Given the description of an element on the screen output the (x, y) to click on. 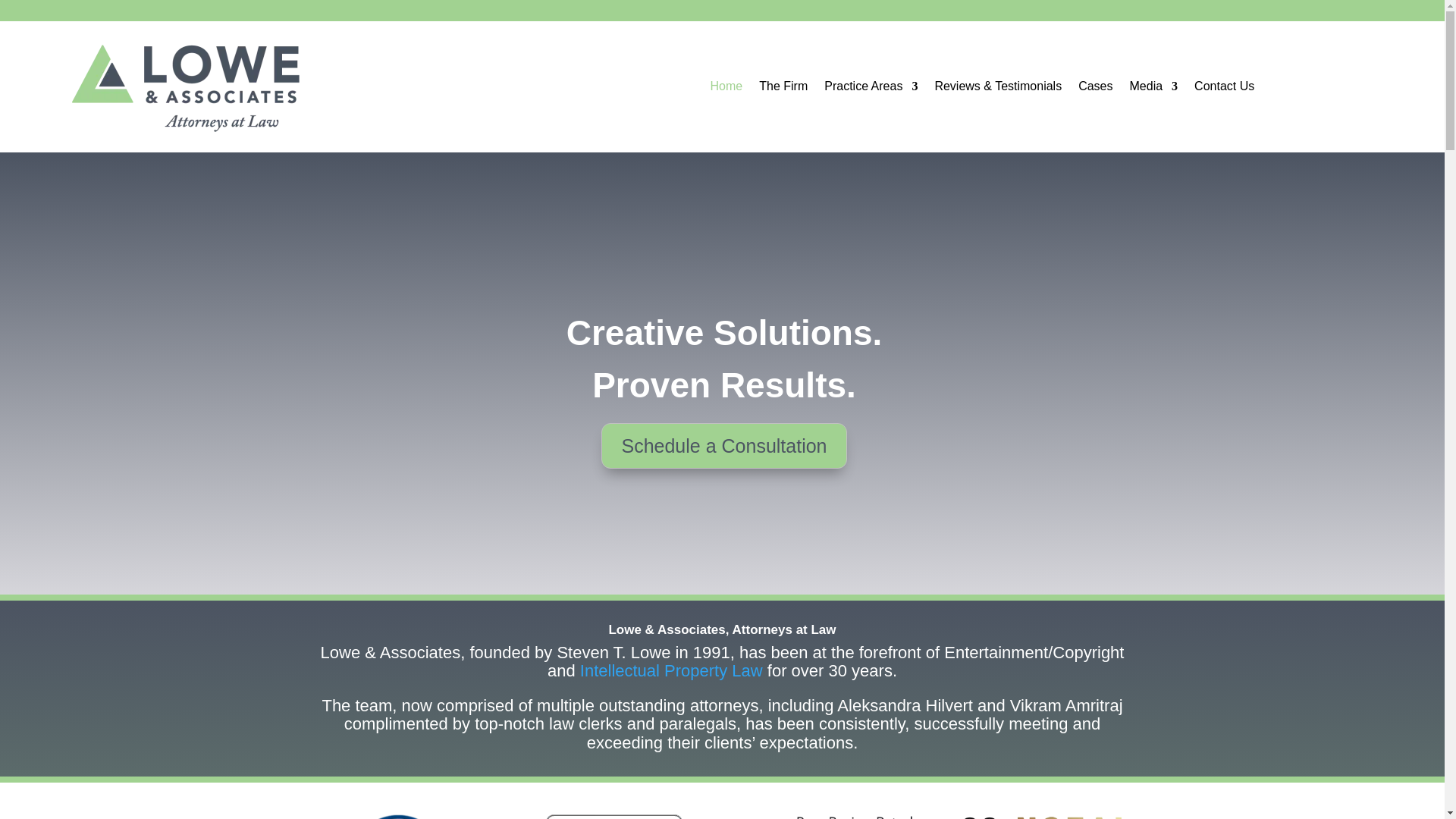
Intellectual Property Law (670, 670)
lo2-new (614, 816)
Schedule a Consultation (723, 445)
Home (726, 89)
Media (1153, 89)
Practice Areas (870, 89)
lo3-new (829, 816)
Contact Us (1223, 89)
Cases (1095, 89)
The Firm (783, 89)
AvvoLogoAlt (398, 816)
